Given the description of an element on the screen output the (x, y) to click on. 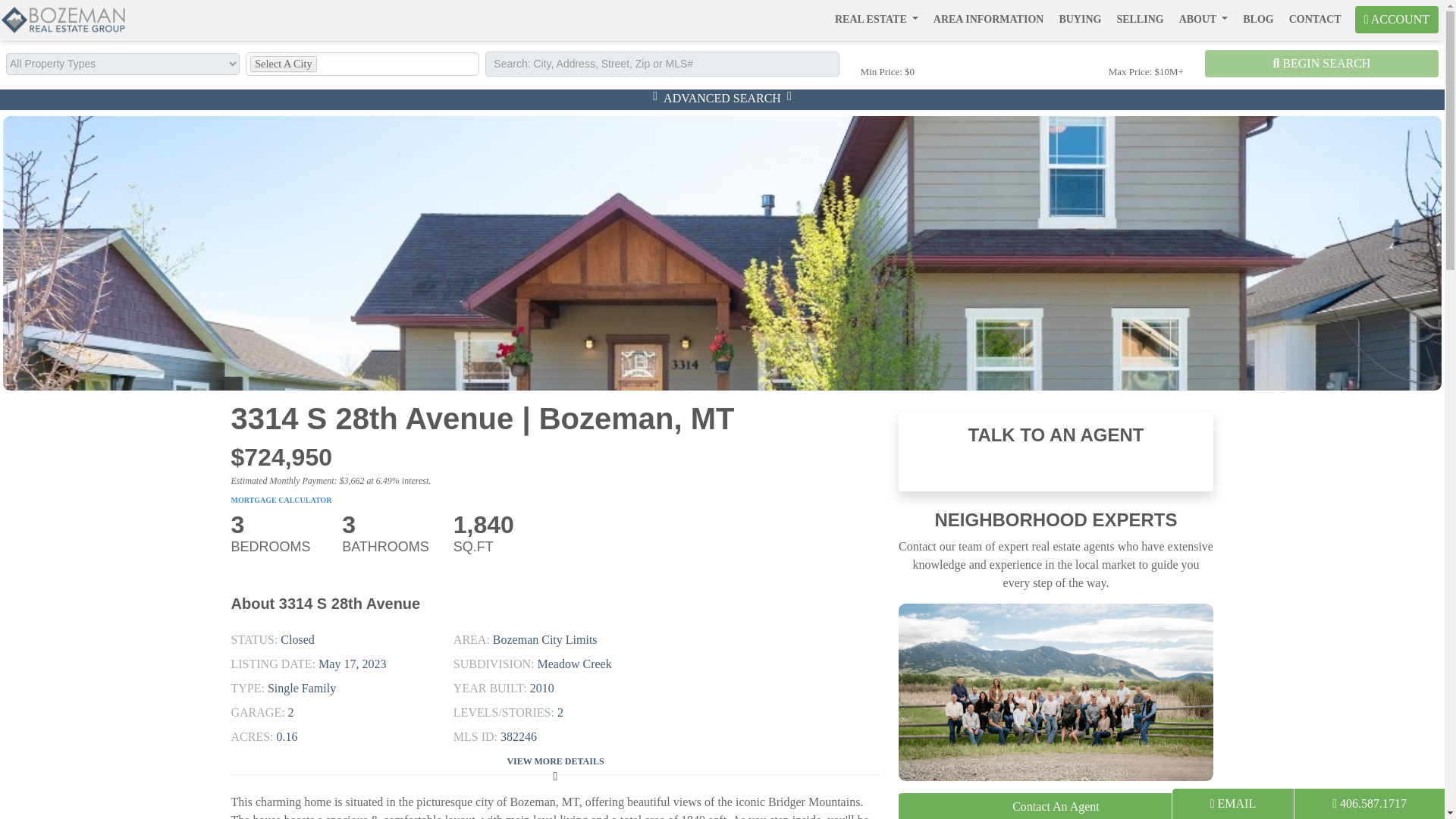
ABOUT (1204, 19)
CONTACT (1315, 19)
BUYING (1079, 19)
ACCOUNT (1396, 19)
AREA INFORMATION (988, 19)
BLOG (1257, 19)
BEGIN SEARCH (1321, 62)
REAL ESTATE (876, 19)
